Given the description of an element on the screen output the (x, y) to click on. 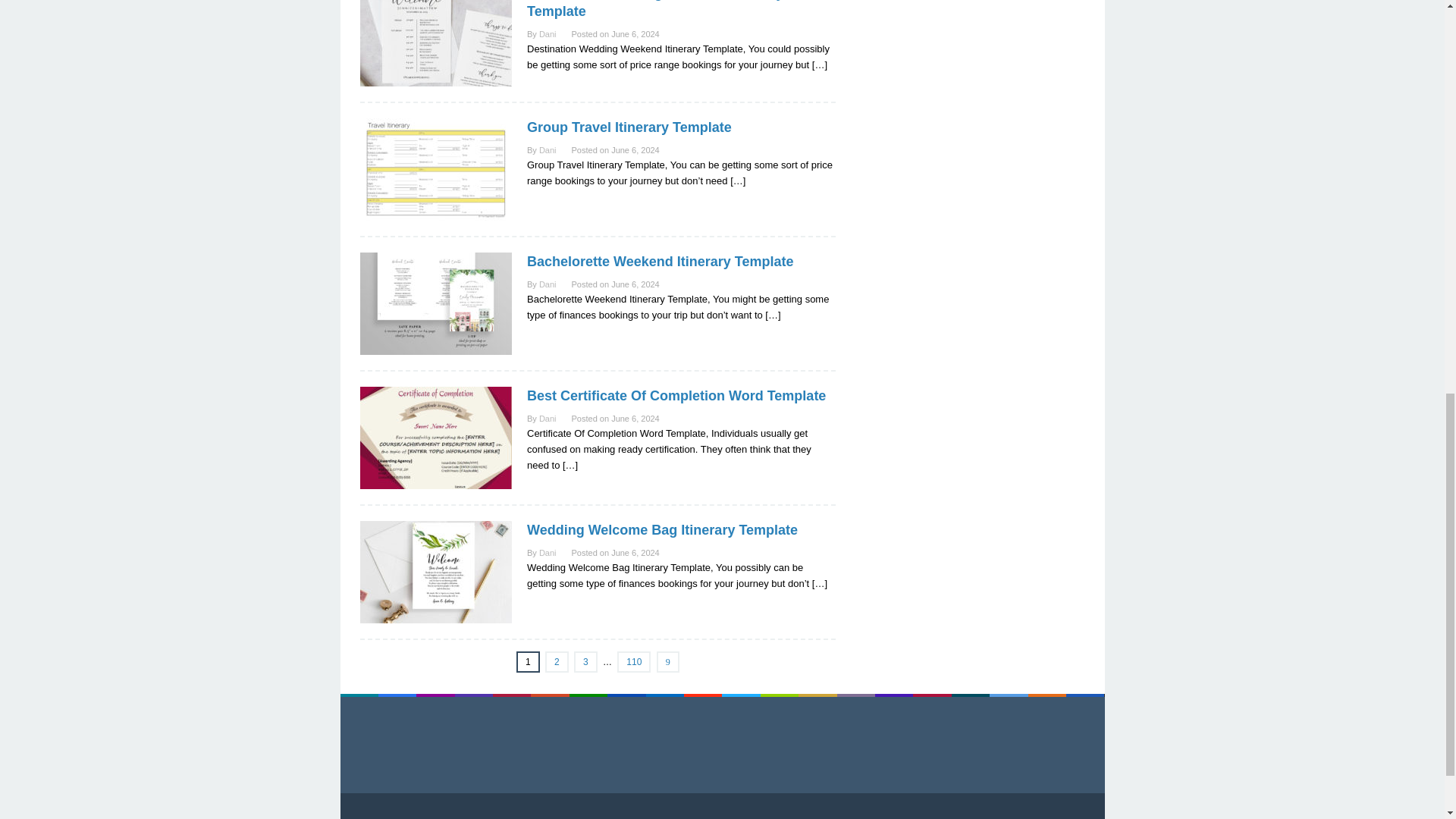
Dani (547, 418)
Dani (547, 33)
Group Travel Itinerary Template (629, 127)
Bachelorette Weekend Itinerary Template (660, 261)
Dani (547, 149)
Dani (547, 284)
Destination Wedding Weekend Itinerary Template (655, 9)
Best Certificate Of Completion Word Template (676, 395)
